Given the description of an element on the screen output the (x, y) to click on. 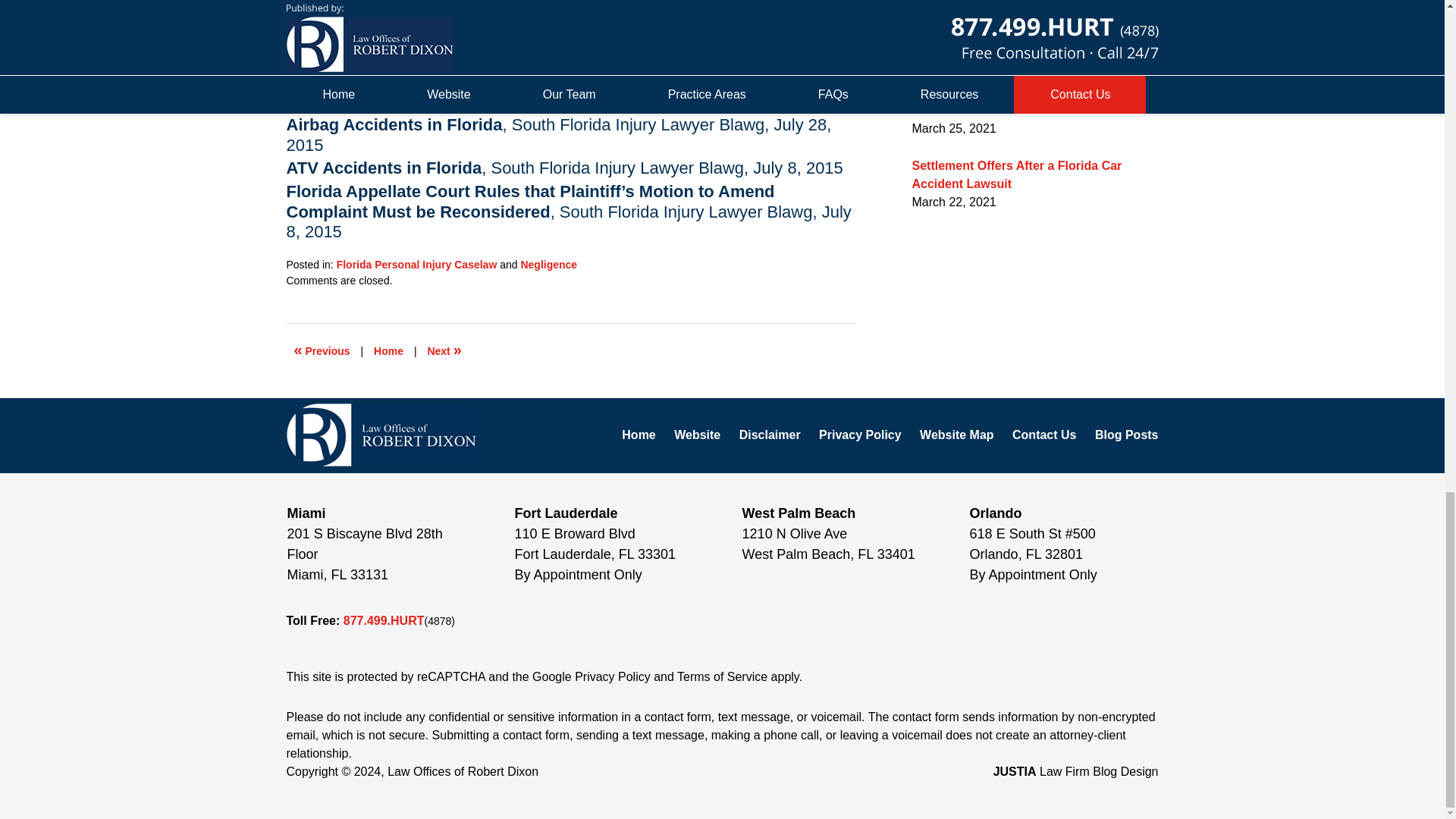
Florida Personal Injury Caselaw (416, 264)
Elevator and Escalator Accidents in Florida (322, 350)
Falling Merchandise Injuries in Florida (443, 350)
Negligence (547, 264)
View all posts in Florida Personal Injury Caselaw (416, 264)
View all posts in Negligence (547, 264)
Home (388, 350)
Airbag Accidents in Florida (394, 124)
ATV Accidents in Florida (383, 167)
